Given the description of an element on the screen output the (x, y) to click on. 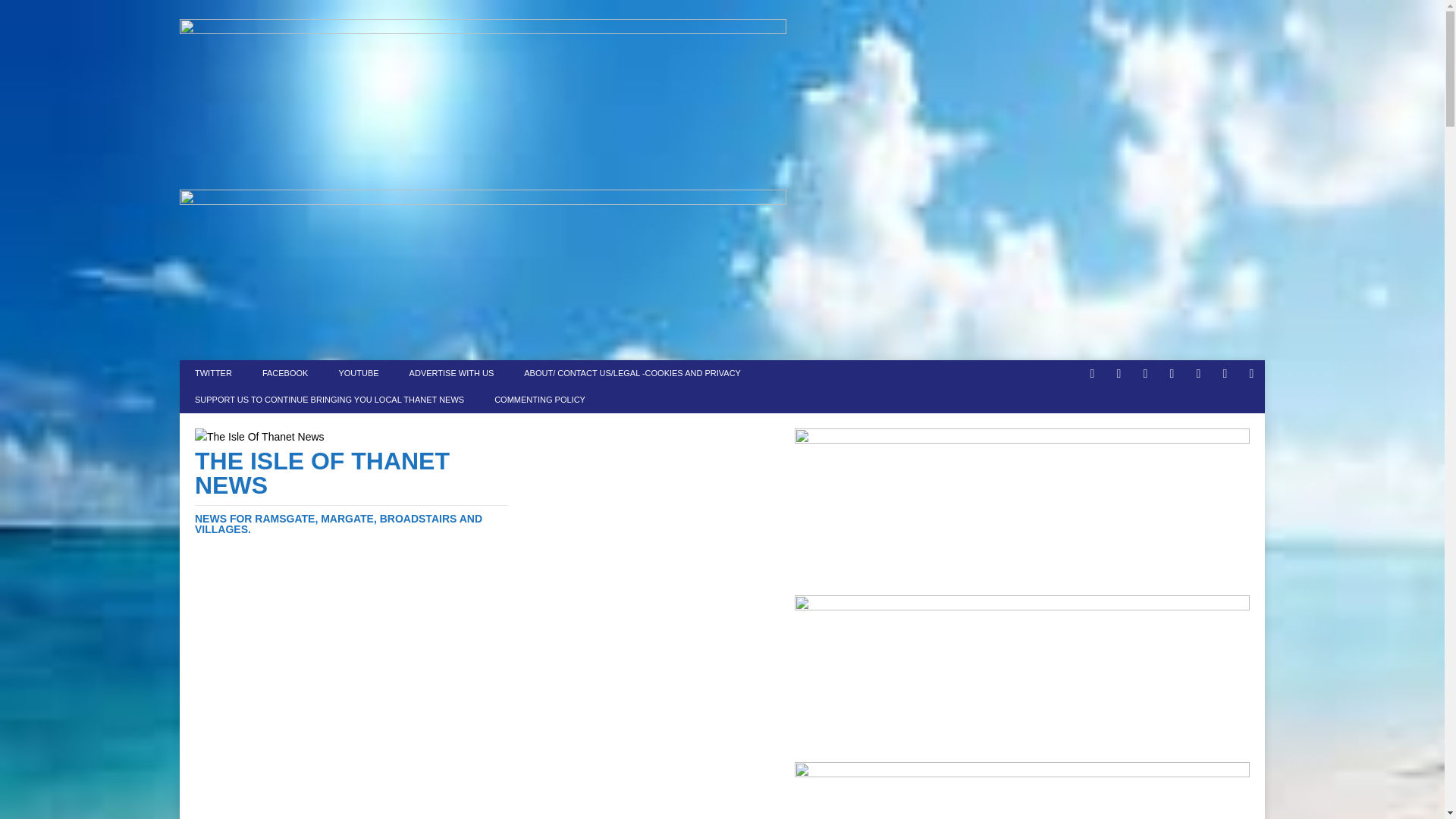
ADVERTISE WITH US (451, 373)
COMMENTING POLICY (539, 399)
SUPPORT US TO CONTINUE BRINGING YOU LOCAL THANET NEWS (329, 399)
The Isle Of Thanet News (351, 491)
FACEBOOK (285, 373)
TWITTER (213, 373)
YOUTUBE (358, 373)
